Given the description of an element on the screen output the (x, y) to click on. 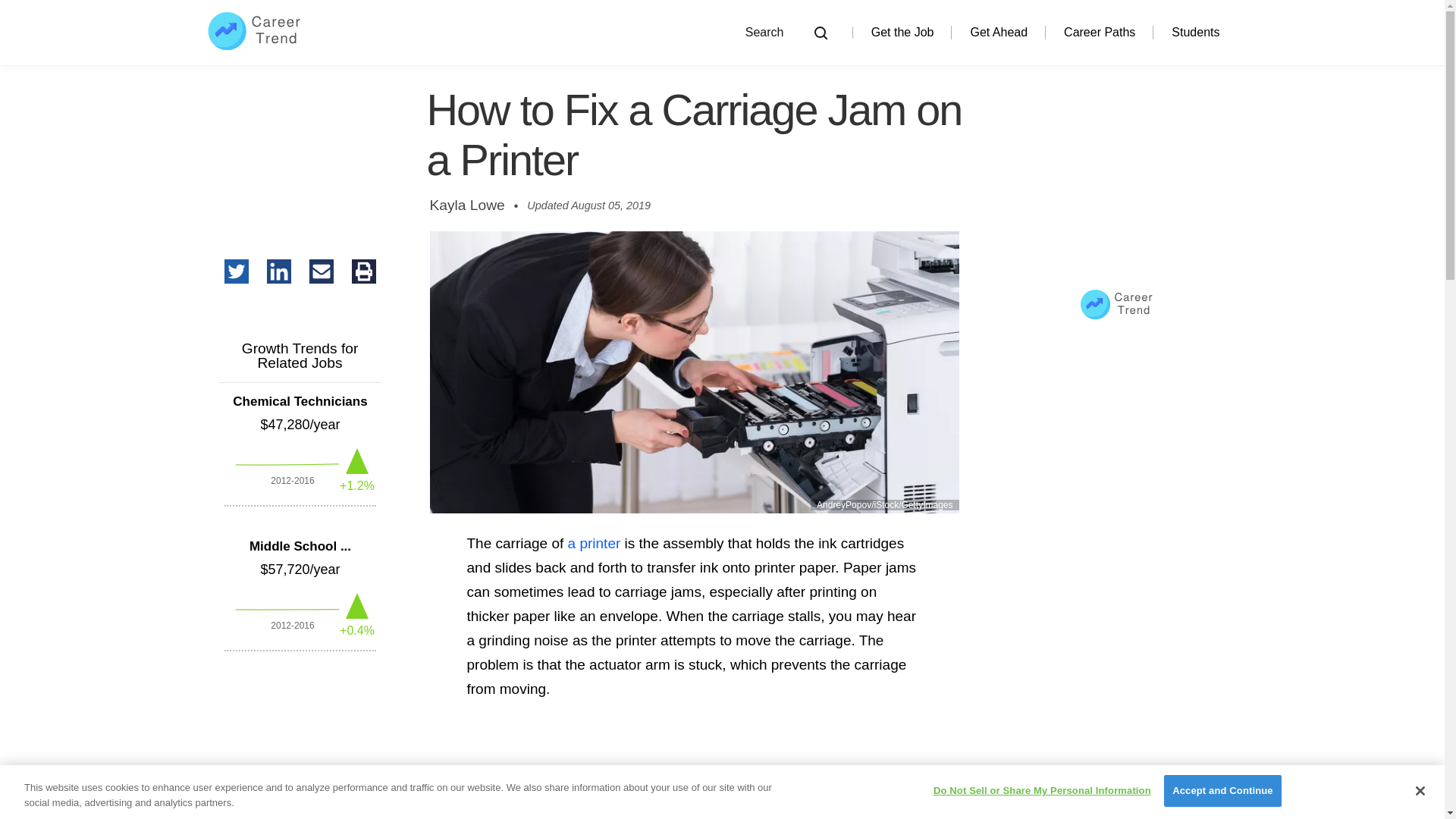
Get the Job (902, 31)
Career Paths (1099, 31)
Students (1196, 31)
Advertisement (693, 766)
Get Ahead (998, 31)
